Given the description of an element on the screen output the (x, y) to click on. 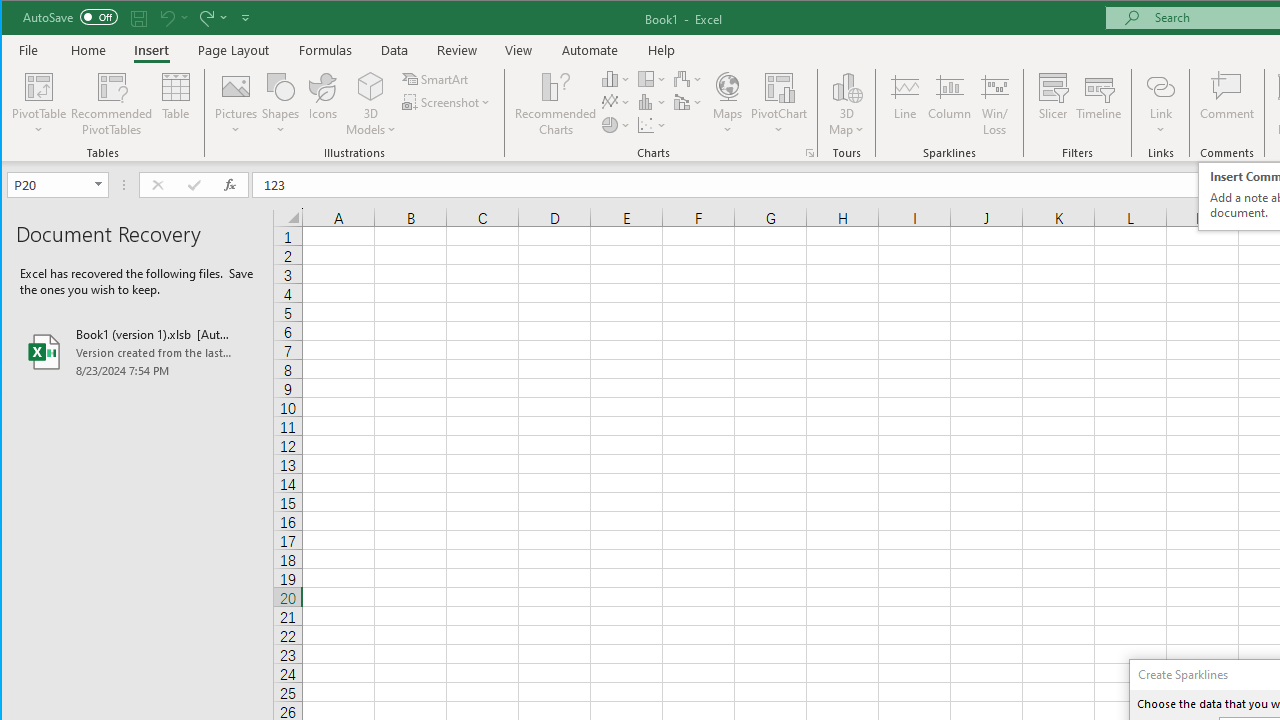
3D Models (371, 86)
PivotChart (779, 104)
Recommended Charts (809, 152)
Column (949, 104)
Insert Waterfall, Funnel, Stock, Surface, or Radar Chart (688, 78)
Link (1160, 86)
Insert Line or Area Chart (616, 101)
Link (1160, 104)
PivotTable (39, 86)
3D Map (846, 104)
